Given the description of an element on the screen output the (x, y) to click on. 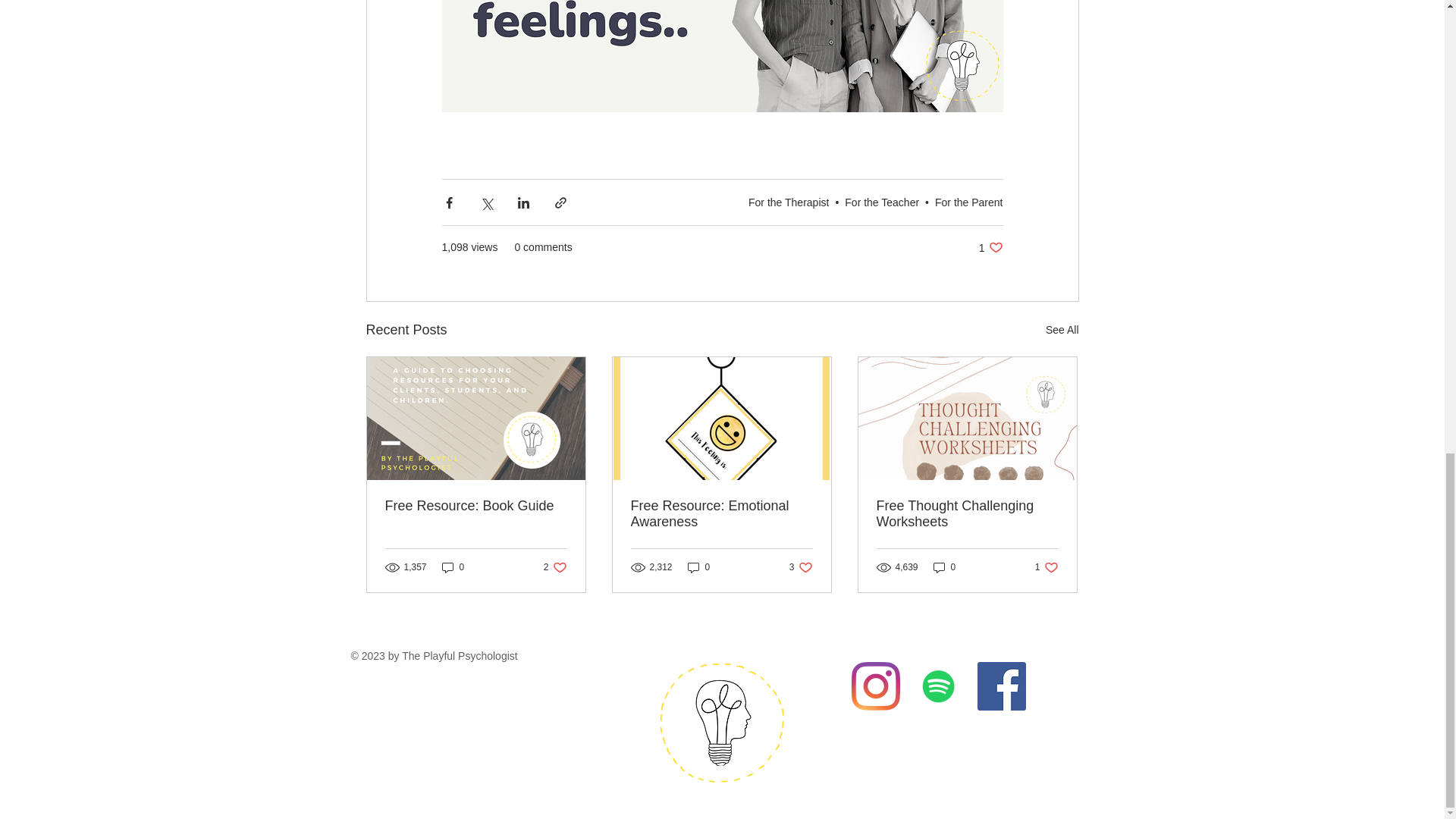
For the Parent (968, 202)
Free Resource: Emotional Awareness (990, 247)
0 (721, 513)
For the Teacher (698, 567)
0 (881, 202)
For the Therapist (453, 567)
See All (555, 567)
Free Resource: Book Guide (800, 567)
